Given the description of an element on the screen output the (x, y) to click on. 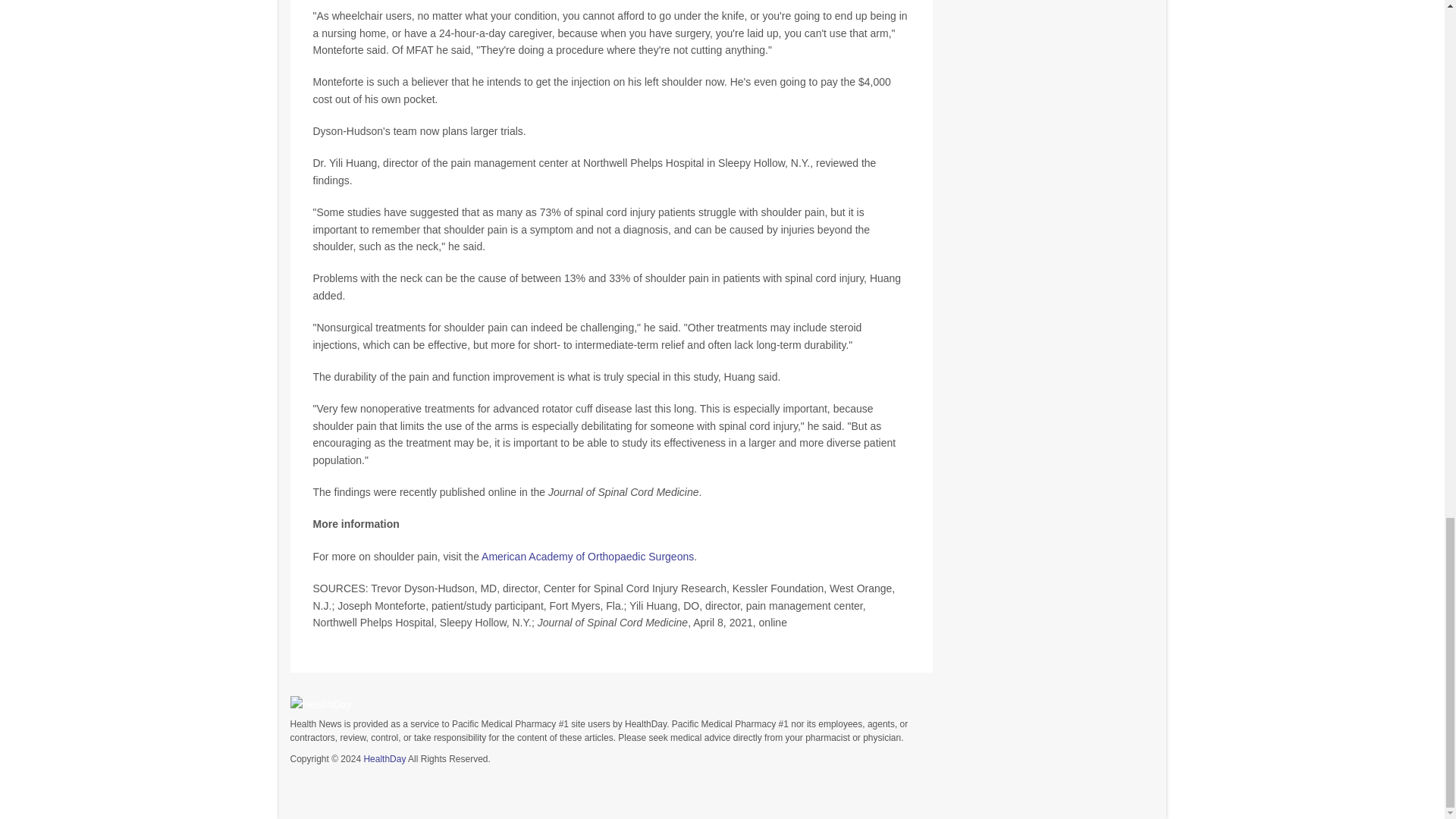
HealthDay (384, 758)
American Academy of Orthopaedic Surgeons (587, 556)
